Given the description of an element on the screen output the (x, y) to click on. 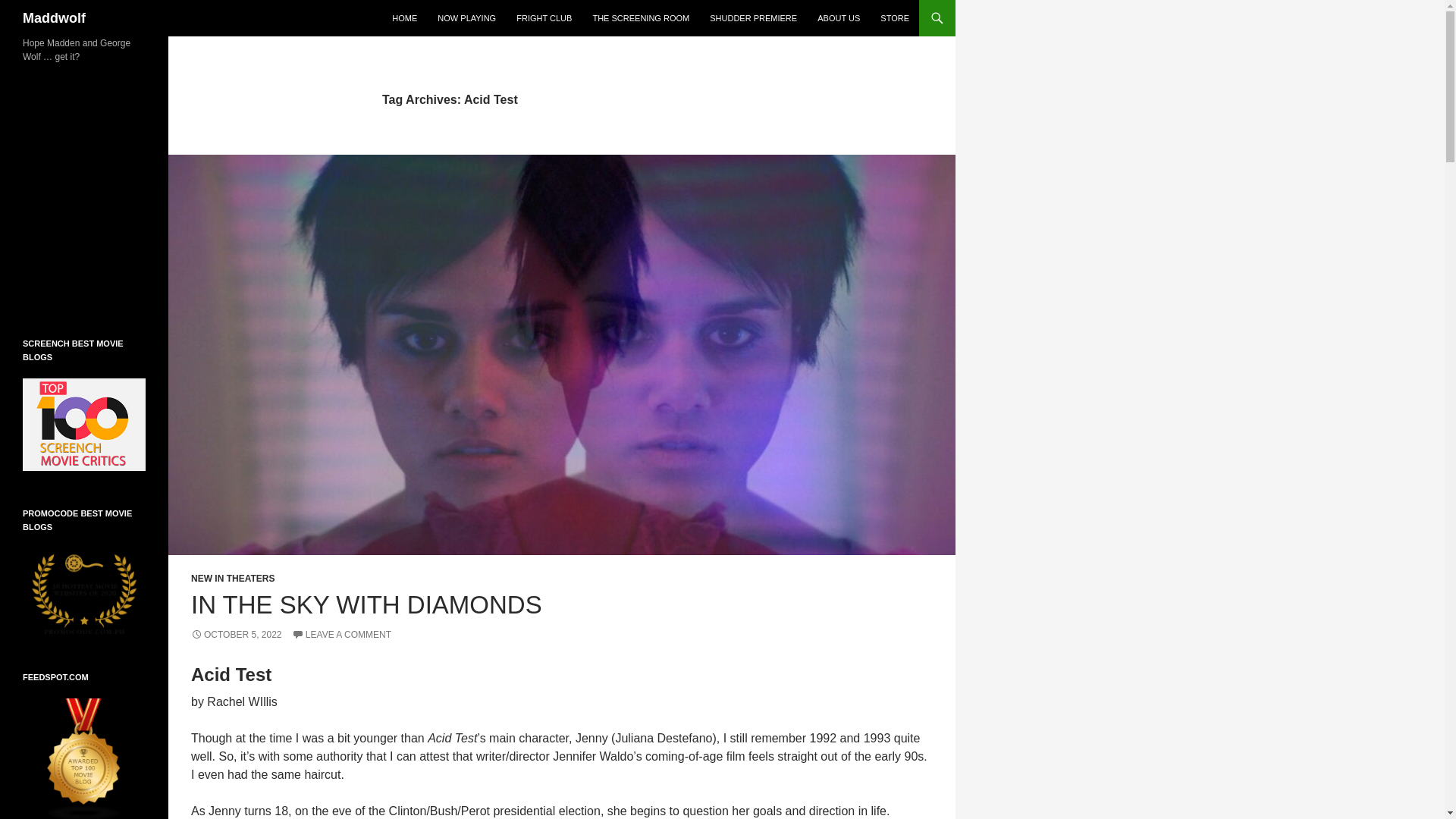
Maddwolf (54, 18)
THE SCREENING ROOM (640, 18)
FRIGHT CLUB (543, 18)
NEW IN THEATERS (232, 578)
NOW PLAYING (466, 18)
HOME (404, 18)
Banners for 30 Hottest Movie Websites of 2020 (84, 590)
IN THE SKY WITH DIAMONDS (365, 604)
OCTOBER 5, 2022 (236, 634)
ABOUT US (838, 18)
